Given the description of an element on the screen output the (x, y) to click on. 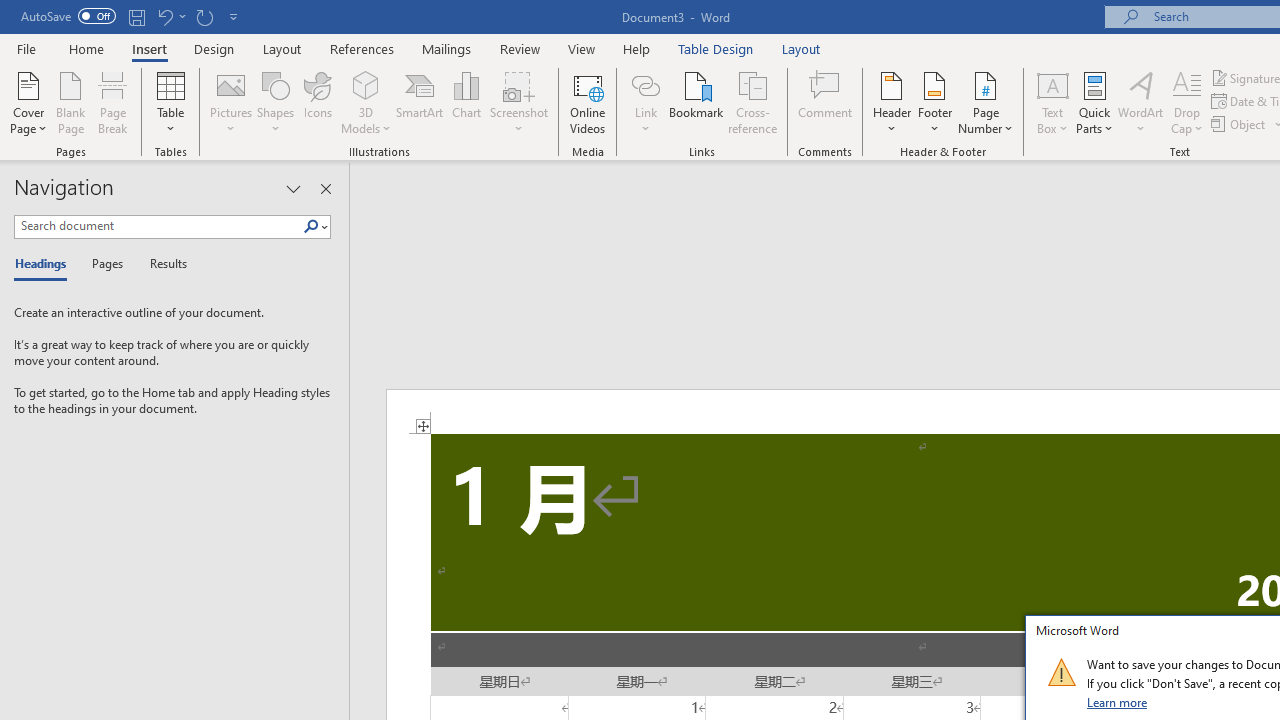
Comment (825, 102)
Header (891, 102)
Footer (934, 102)
Cover Page (28, 102)
Cross-reference... (752, 102)
